Given the description of an element on the screen output the (x, y) to click on. 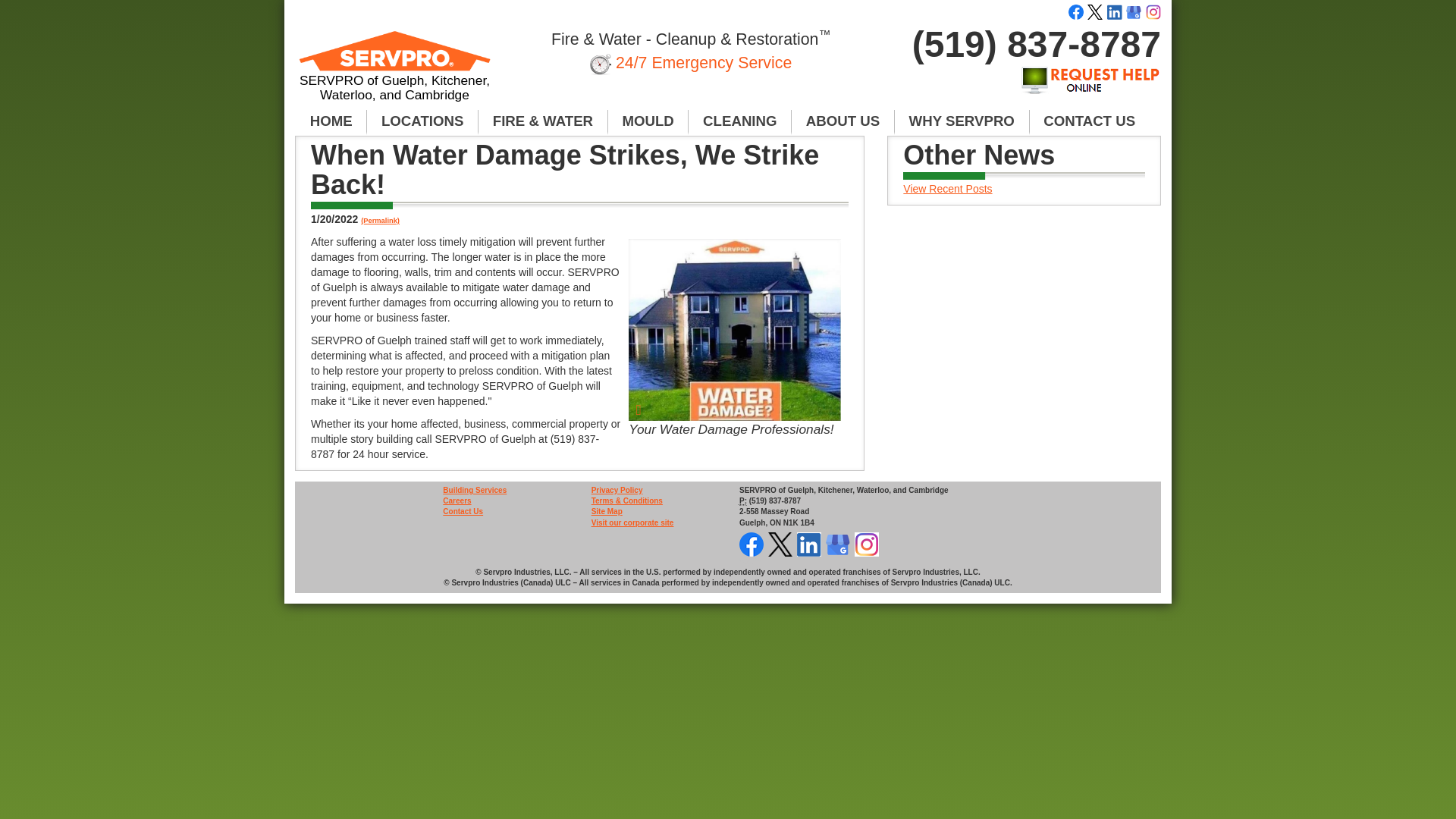
LOCATIONS (422, 121)
CLEANING (740, 121)
MOULD (648, 121)
HOME (330, 121)
SERVPRO of Guelph, Kitchener, Waterloo, and Cambridge (395, 72)
